Given the description of an element on the screen output the (x, y) to click on. 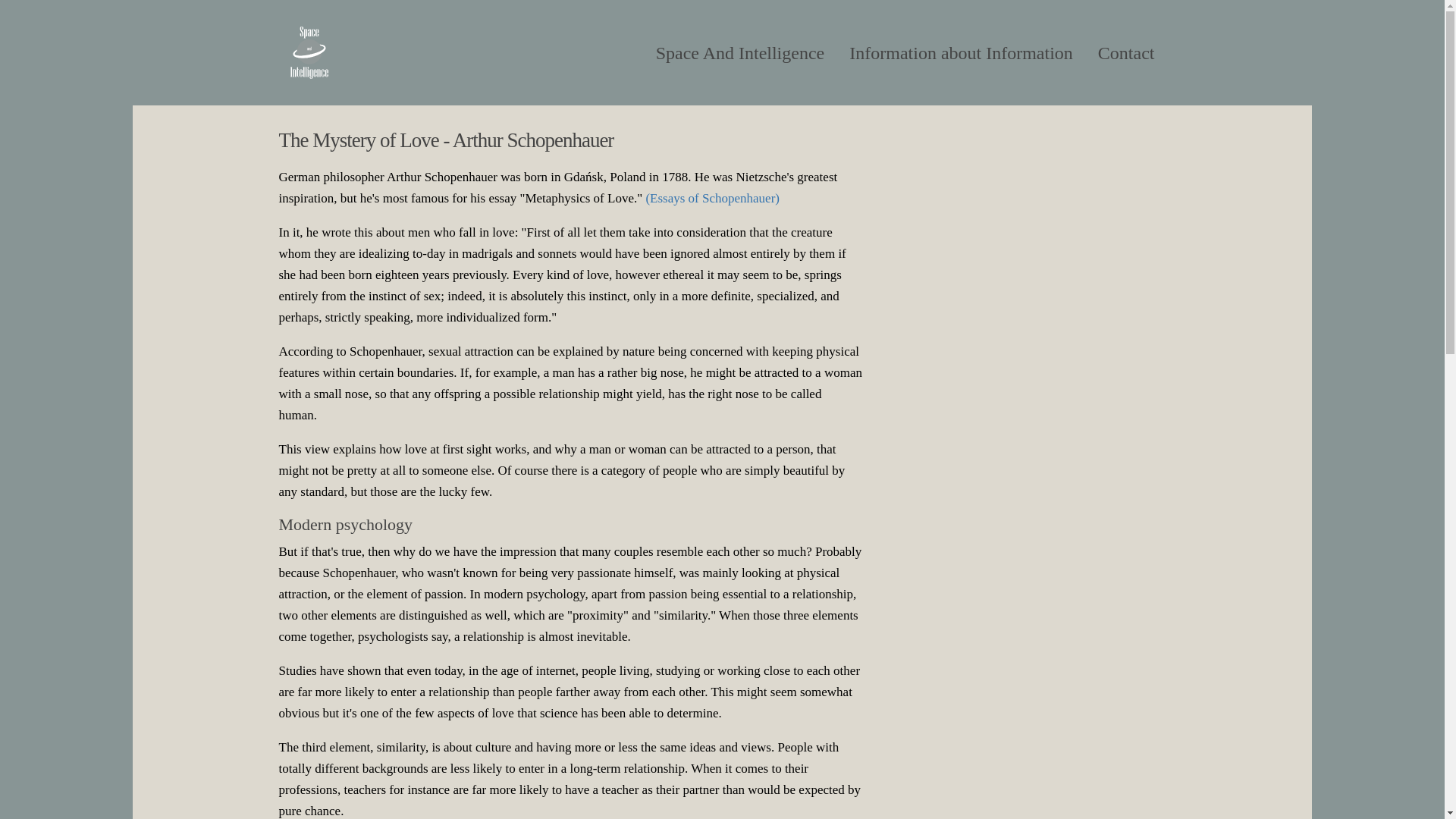
Space And Intelligence (740, 53)
Contact (1125, 53)
Contact (1125, 53)
Information about Information (960, 53)
